Given the description of an element on the screen output the (x, y) to click on. 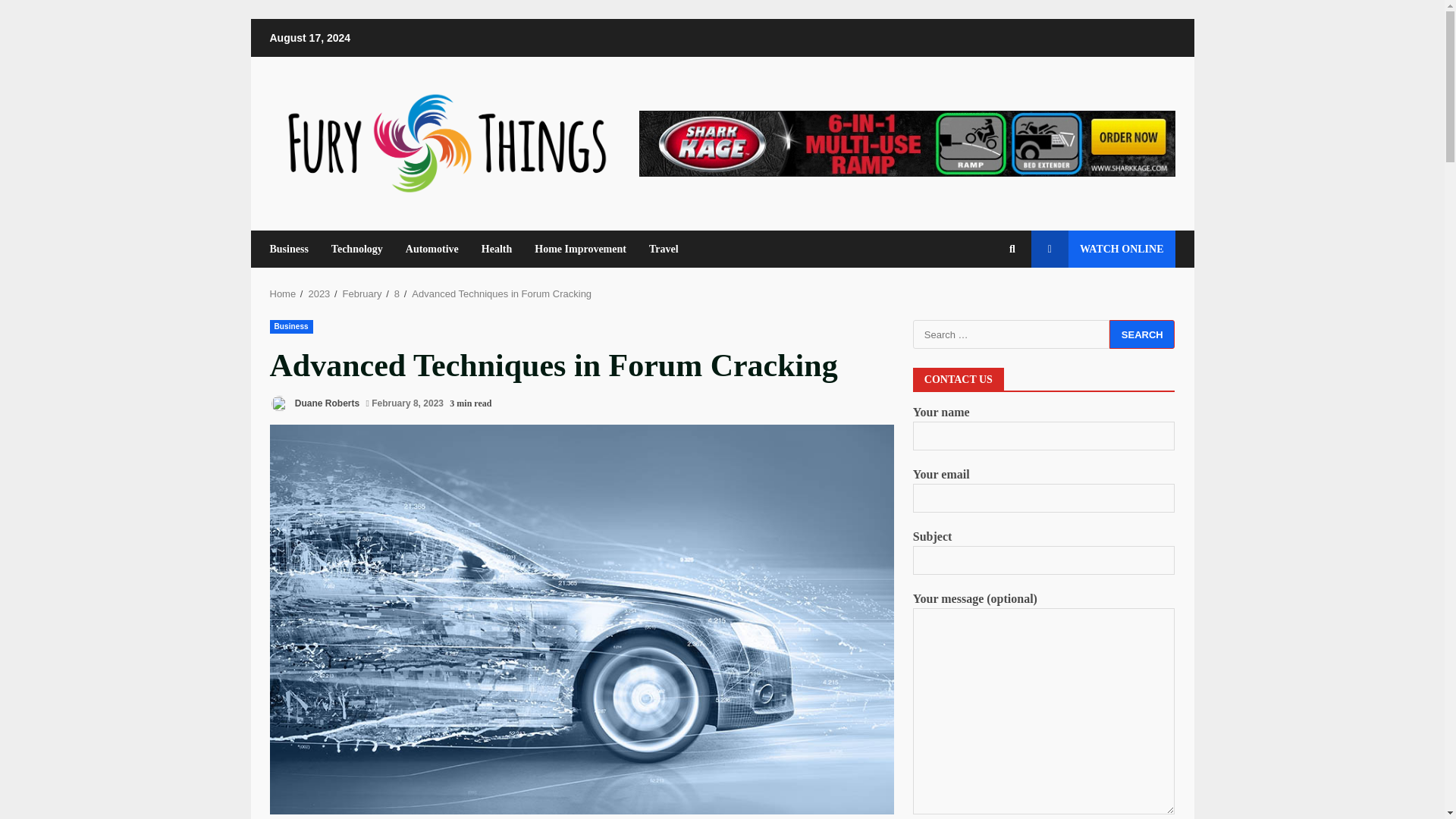
Automotive (432, 248)
Duane Roberts (314, 403)
Home (283, 293)
Search (1141, 334)
Advanced Techniques in Forum Cracking (501, 293)
WATCH ONLINE (1102, 248)
Search (984, 300)
Health (496, 248)
February (361, 293)
